Given the description of an element on the screen output the (x, y) to click on. 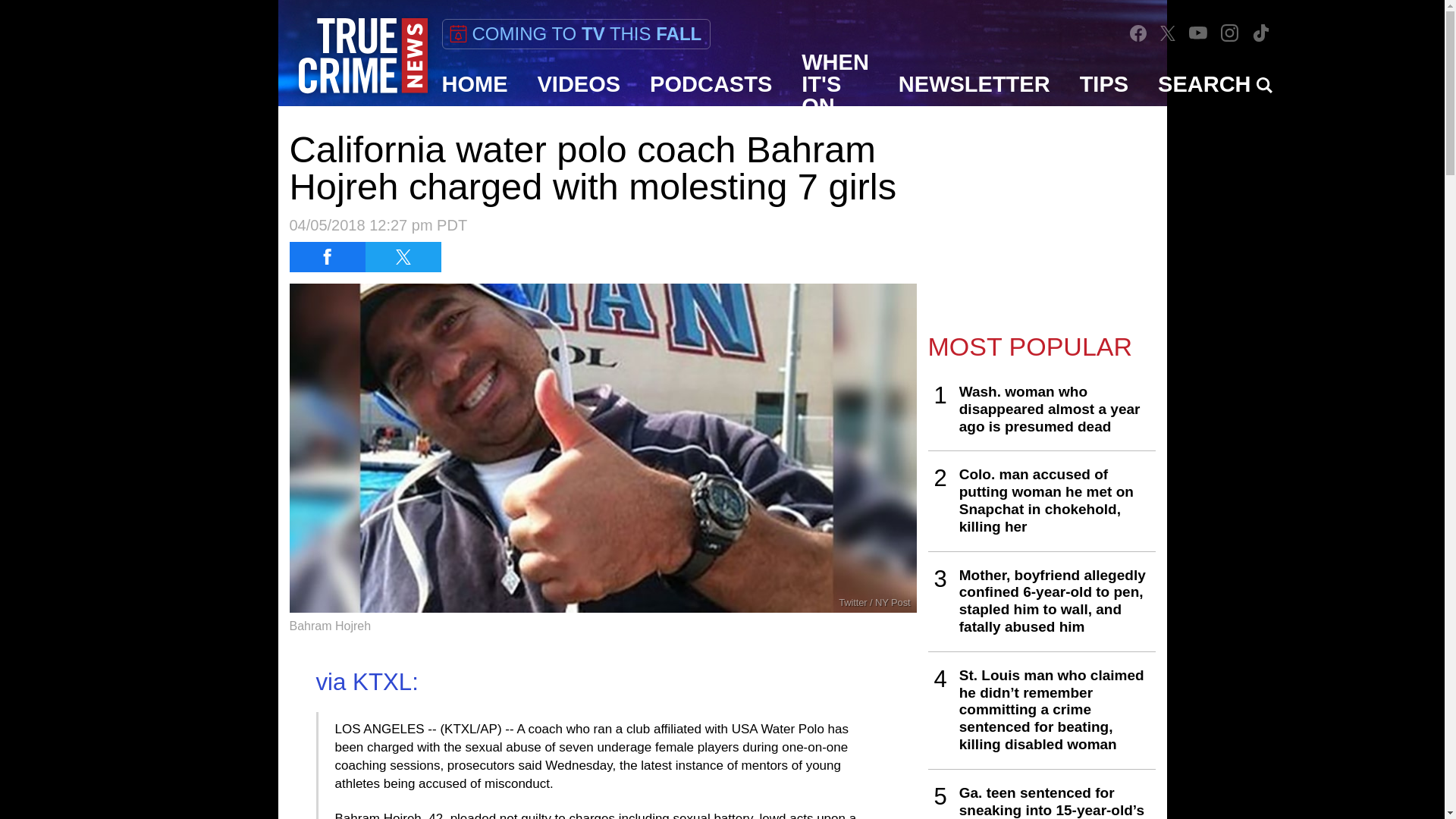
Twitter (1167, 32)
3rd party ad content (1042, 214)
YouTube (1198, 32)
Instagram (1230, 32)
TikTok (1260, 32)
PODCASTS (710, 84)
TIPS (1103, 84)
True Crime News (363, 56)
Facebook (1138, 32)
TikTok (1260, 32)
